Given the description of an element on the screen output the (x, y) to click on. 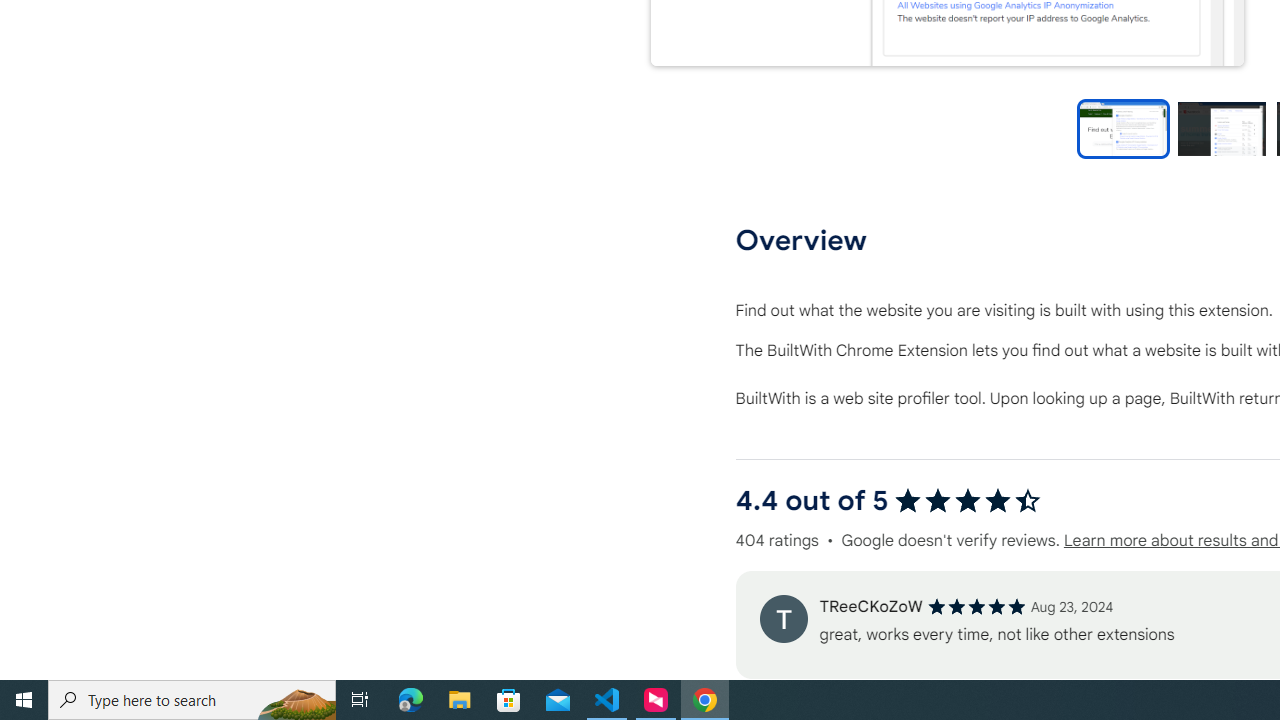
5 out of 5 stars (975, 606)
Review's profile picture (783, 618)
Preview slide 2 (1221, 128)
Type here to search (191, 699)
File Explorer (460, 699)
Visual Studio Code - 1 running window (607, 699)
Start (24, 699)
Microsoft Store (509, 699)
Microsoft Edge (411, 699)
Search highlights icon opens search home window (295, 699)
Google Chrome - 1 running window (704, 699)
Preview slide 1 (1123, 128)
Task View (359, 699)
